Given the description of an element on the screen output the (x, y) to click on. 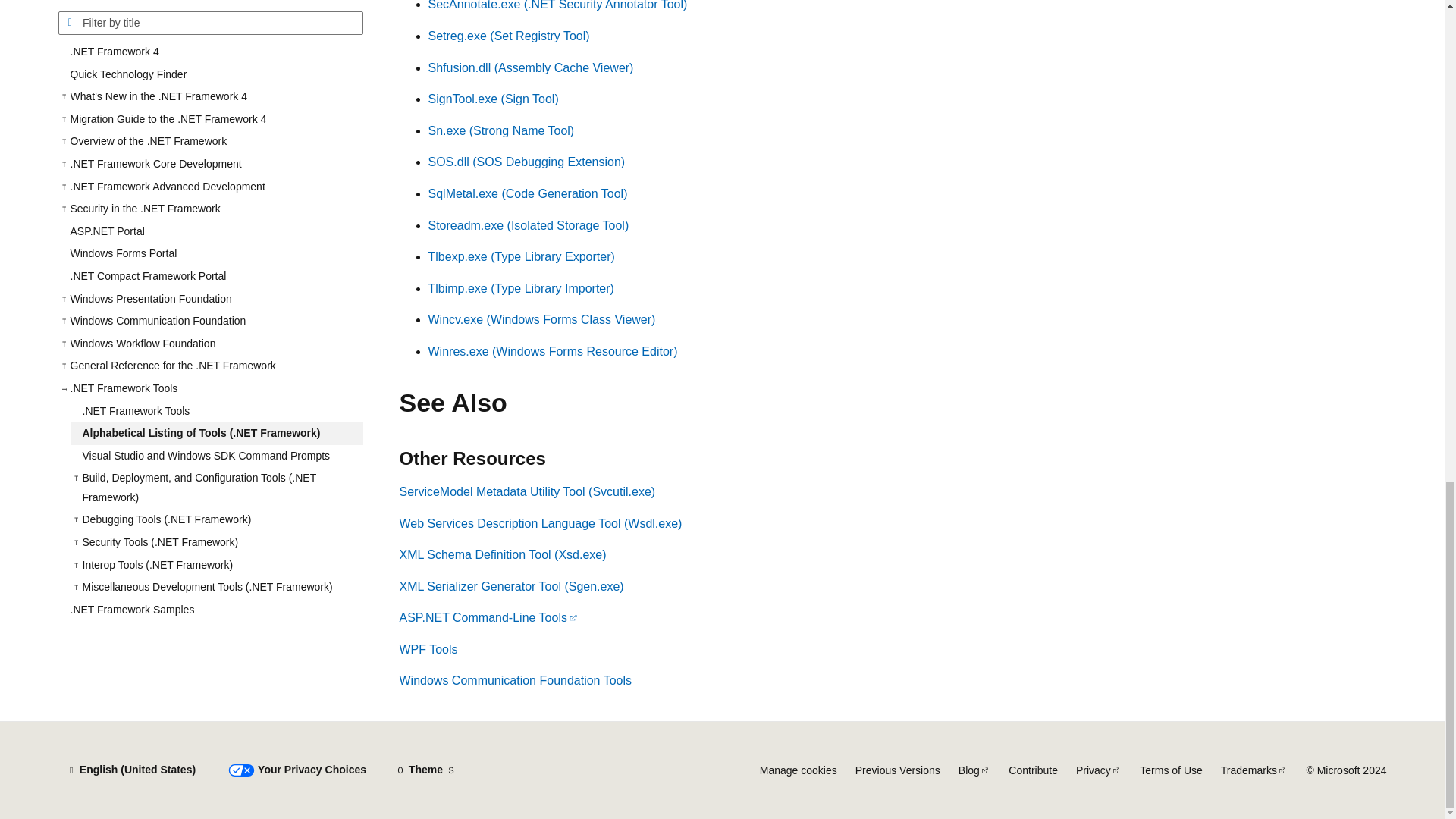
Theme (425, 770)
